Given the description of an element on the screen output the (x, y) to click on. 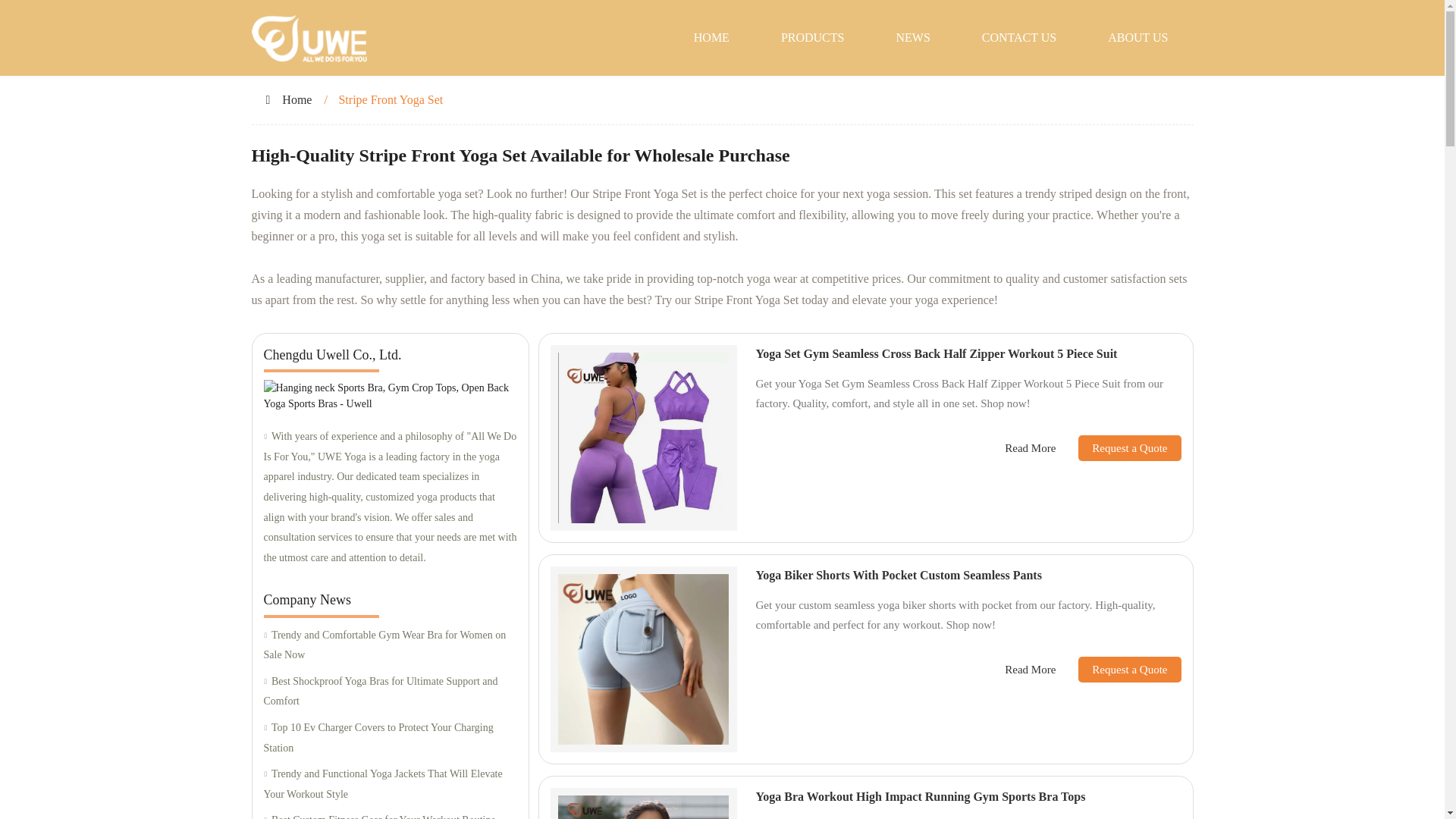
CONTACT US (1018, 38)
PRODUCTS (812, 38)
Yoga Bra Workout High Impact Running Gym Sports Bra Tops (919, 796)
Trendy and Comfortable Gym Wear Bra for Women on Sale Now (389, 645)
Yoga Biker Shorts With Pocket Custom Seamless Pants (898, 574)
Best Shockproof Yoga Bras for Ultimate Support and Comfort (389, 691)
Best Custom Fitness Gear for Your Workout Routine (389, 814)
Read More (1029, 448)
Read More (1029, 669)
Top 10 Ev Charger Covers to Protect Your Charging Station (389, 738)
Request a Quote (1117, 447)
Home (296, 99)
